Given the description of an element on the screen output the (x, y) to click on. 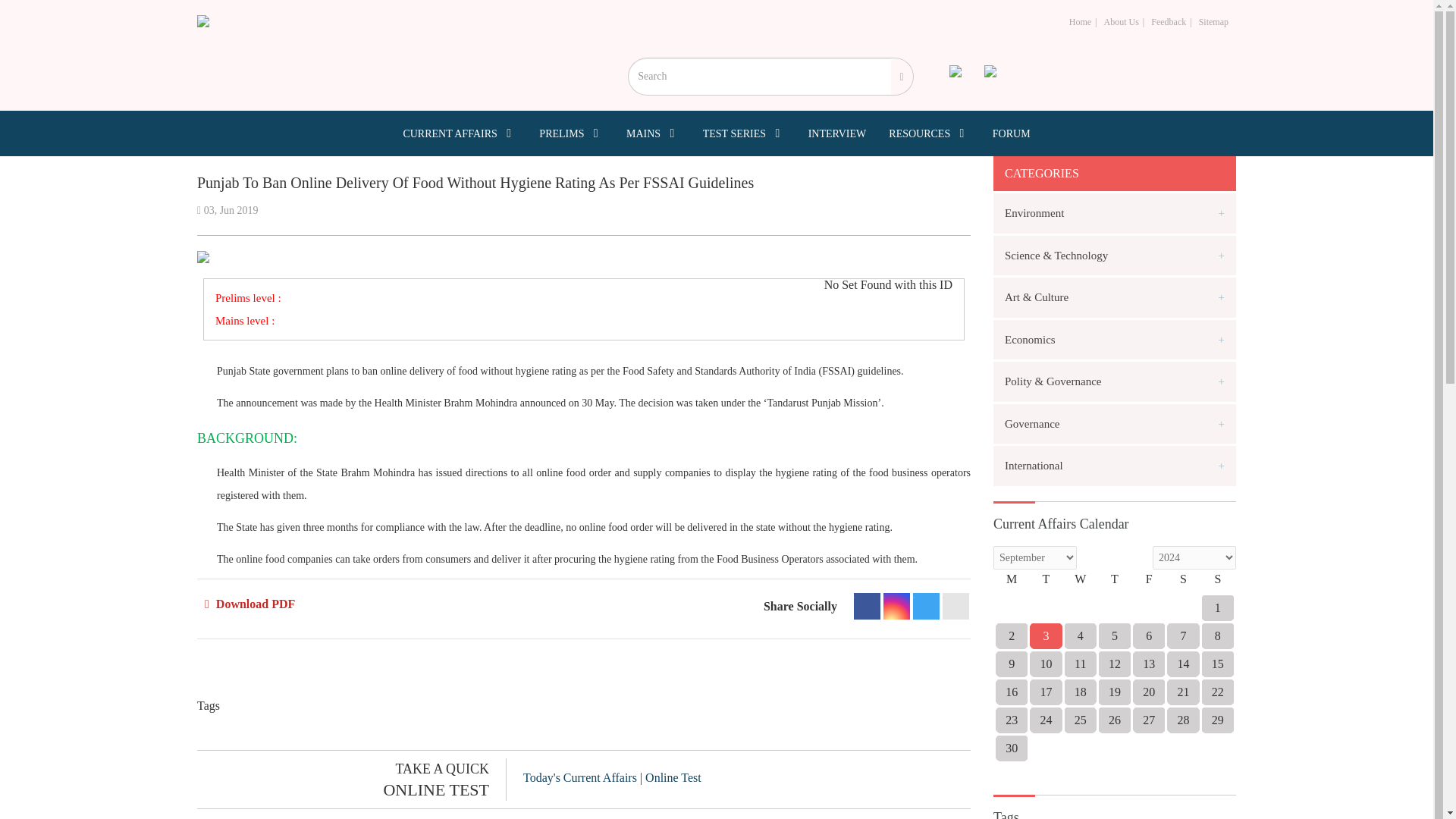
Thursday (1114, 583)
Tuesday (1045, 583)
Friday (1149, 583)
PRELIMS (571, 133)
About Us (1120, 21)
IAS Gatewayy (202, 21)
Sitemap (1213, 21)
Telegram (925, 605)
Home (1079, 21)
Governance (1114, 423)
